Given the description of an element on the screen output the (x, y) to click on. 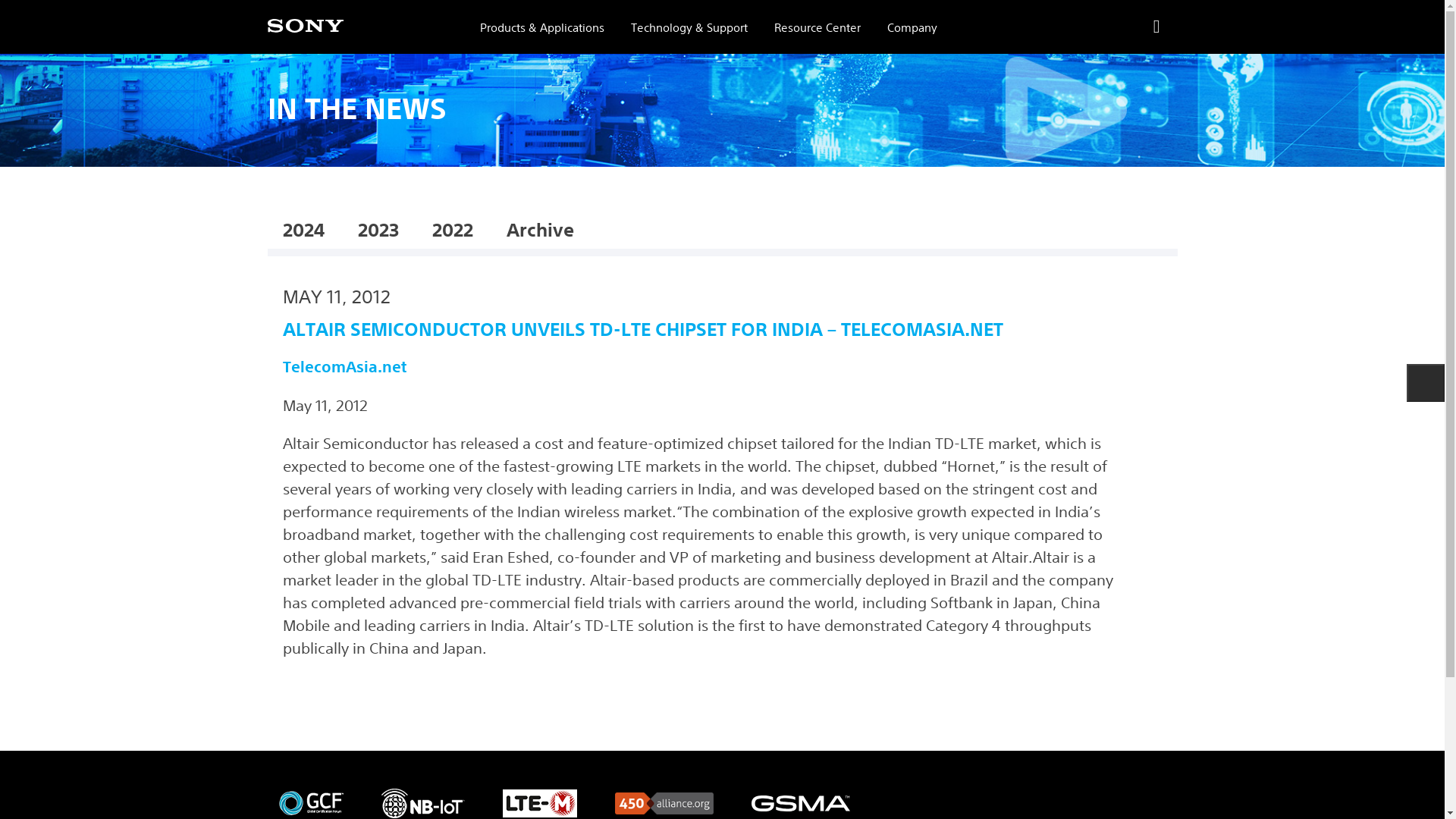
TelecomAsia.net - External link (344, 366)
Company (911, 27)
Resource Center (817, 27)
